Given the description of an element on the screen output the (x, y) to click on. 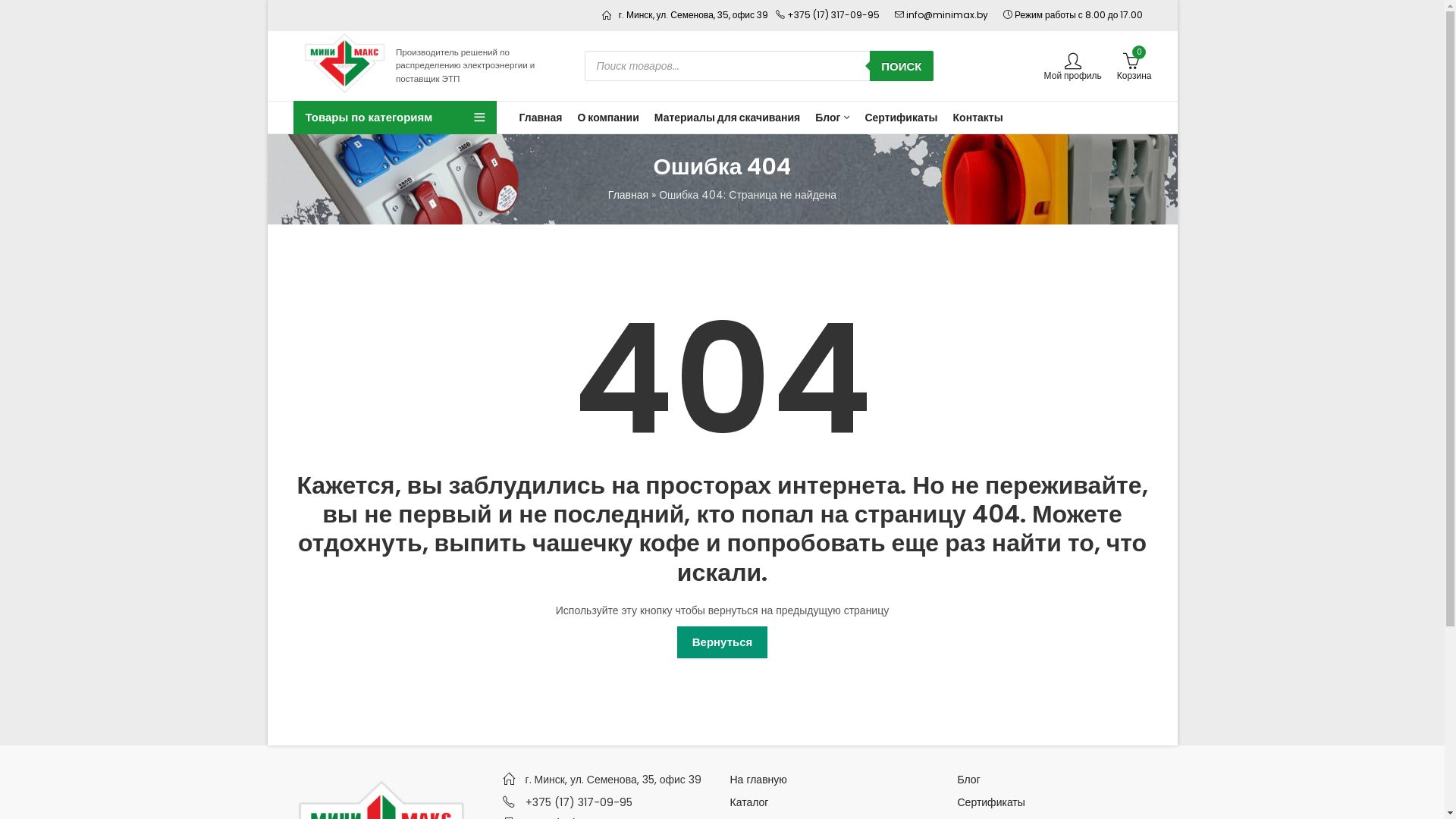
+375 (17) 317-09-95 Element type: text (831, 14)
info@minimax.by Element type: text (945, 14)
